Given the description of an element on the screen output the (x, y) to click on. 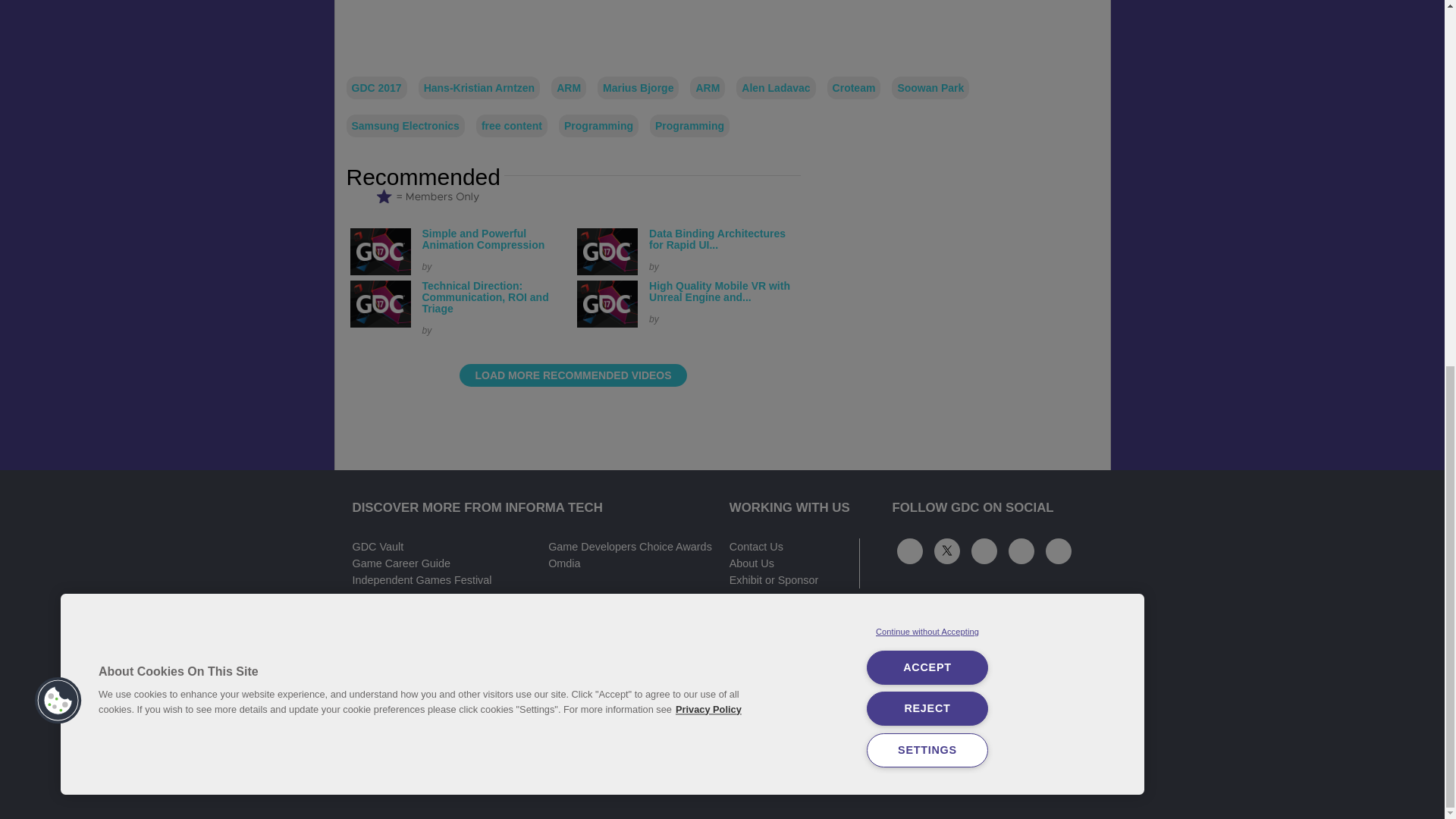
Cookies Button (57, 41)
Simple and Powerful Animation Compression (483, 238)
3rd party ad content (965, 27)
Data Binding Architectures for Rapid UI... (717, 238)
Technical Direction: Communication, ROI and Triage (485, 297)
High Quality Mobile VR with Unreal Engine and... (719, 291)
